Given the description of an element on the screen output the (x, y) to click on. 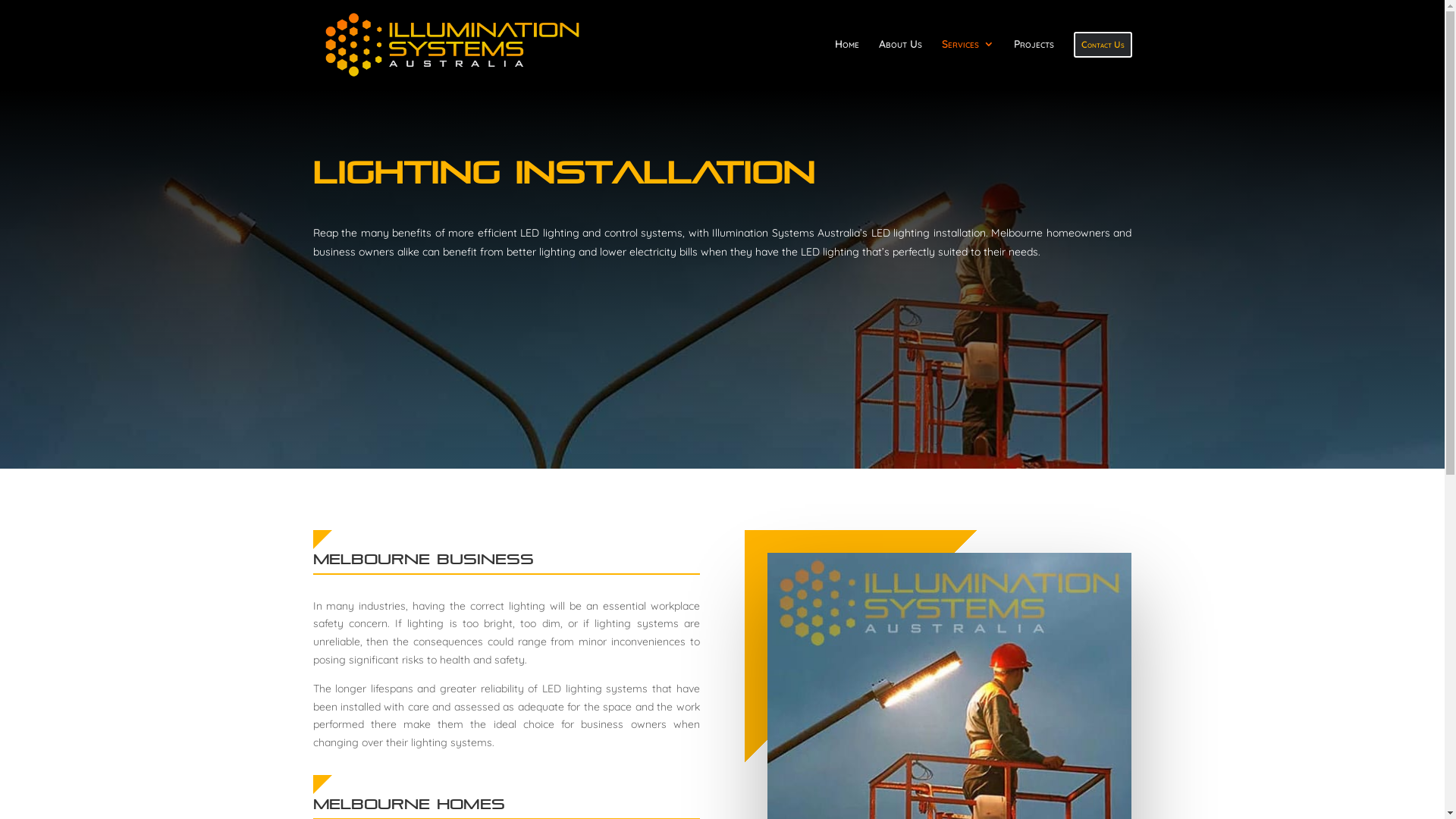
Projects Element type: text (1033, 62)
About Us Element type: text (899, 62)
electrician_04 Element type: hover (321, 539)
Services Element type: text (967, 62)
Home Element type: text (846, 62)
electrician_04 Element type: hover (321, 784)
Contact Us Element type: text (1102, 60)
